Given the description of an element on the screen output the (x, y) to click on. 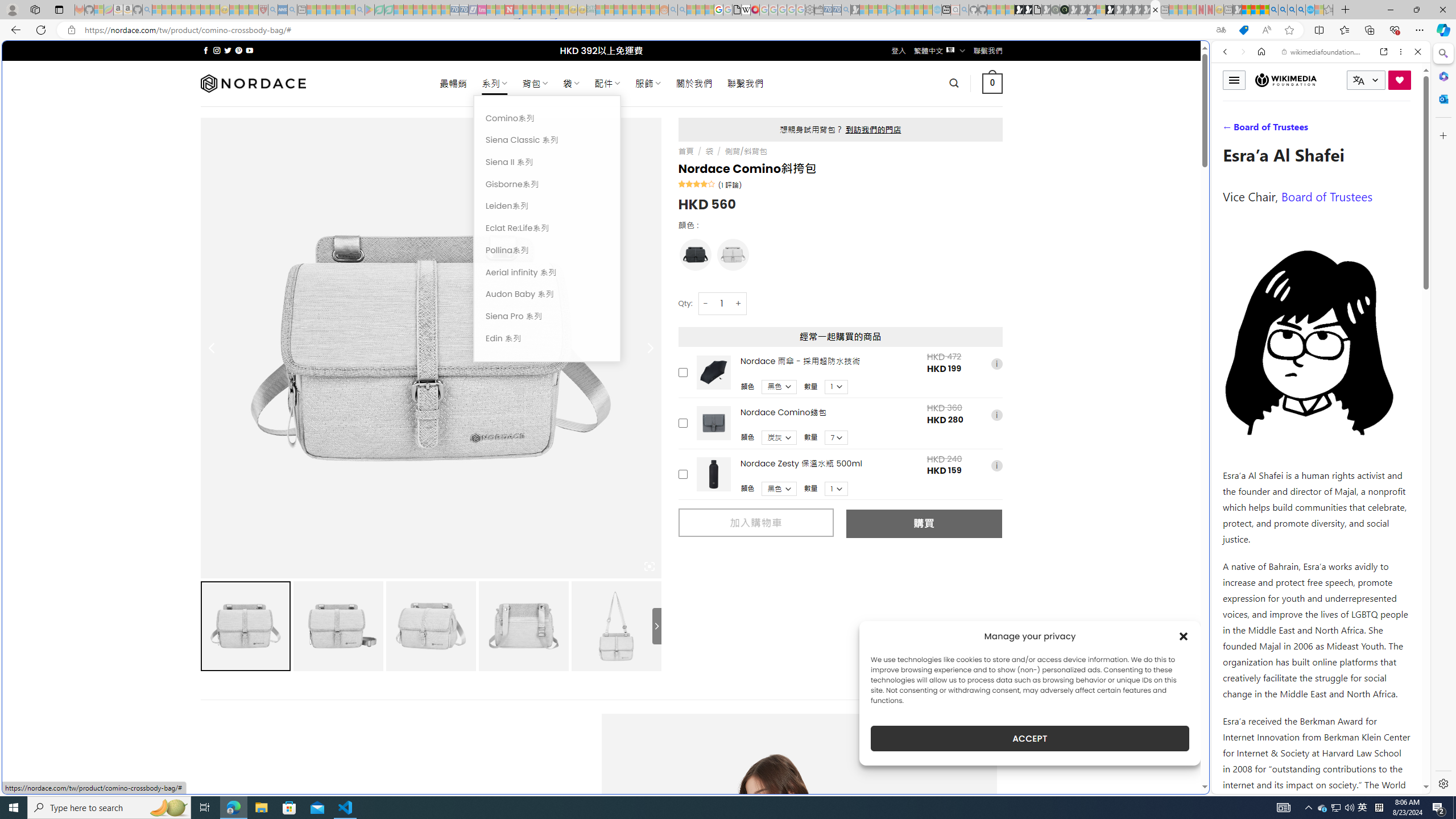
Play Cave FRVR in your browser | Games from Microsoft Start (922, 242)
Class: upsell-v2-product-upsell-variable-product-qty-select (836, 488)
World - MSN (727, 389)
